Given the description of an element on the screen output the (x, y) to click on. 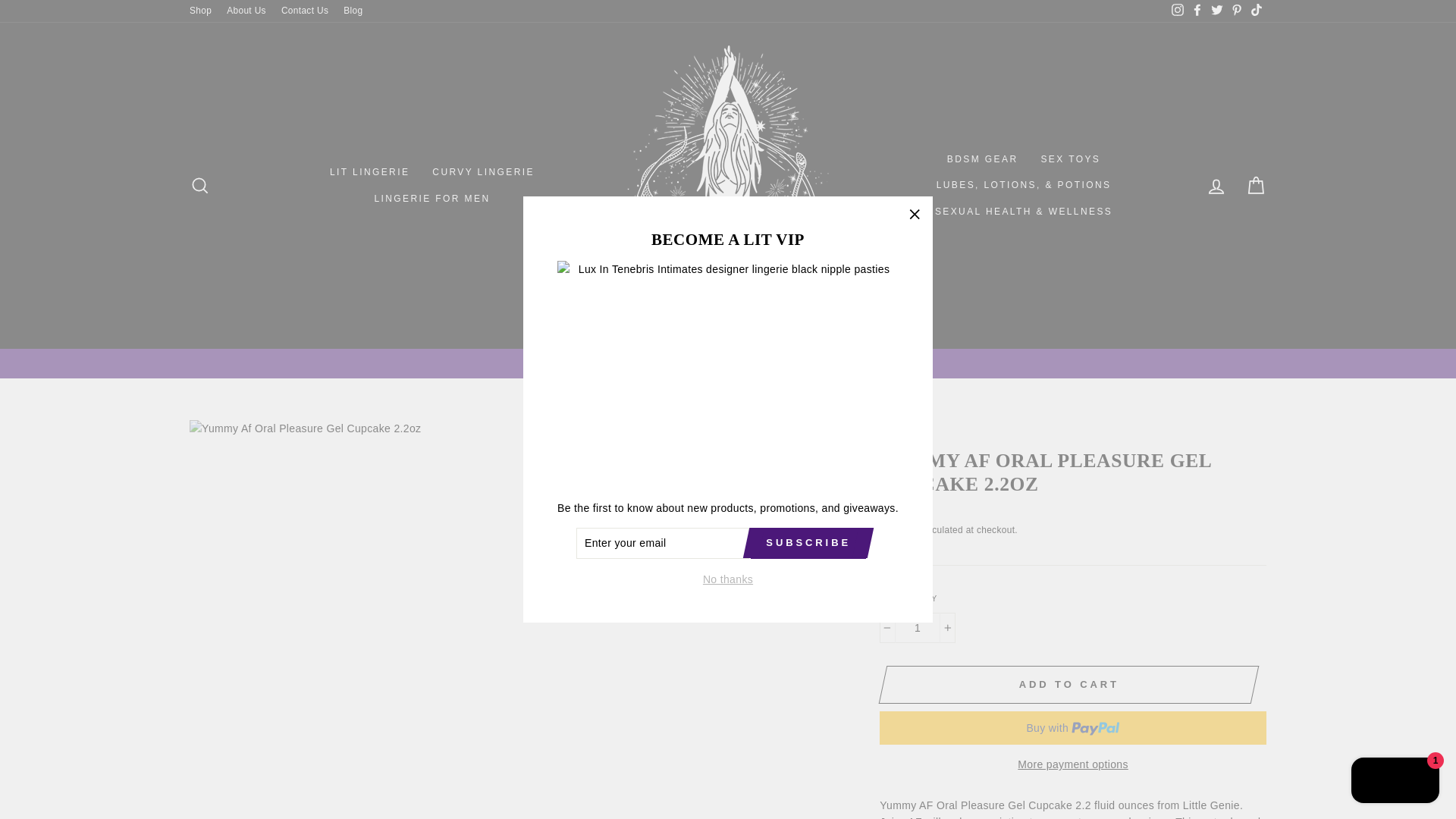
Lux In Tenebris Intimates on Pinterest (1236, 11)
Lux In Tenebris Intimates on Facebook (1197, 11)
1 (917, 627)
Lux In Tenebris Intimates on TikTok (1256, 11)
Lux In Tenebris Intimates on Twitter (1217, 11)
Back to the frontpage (891, 434)
Lux In Tenebris Intimates on Instagram (1177, 11)
